Given the description of an element on the screen output the (x, y) to click on. 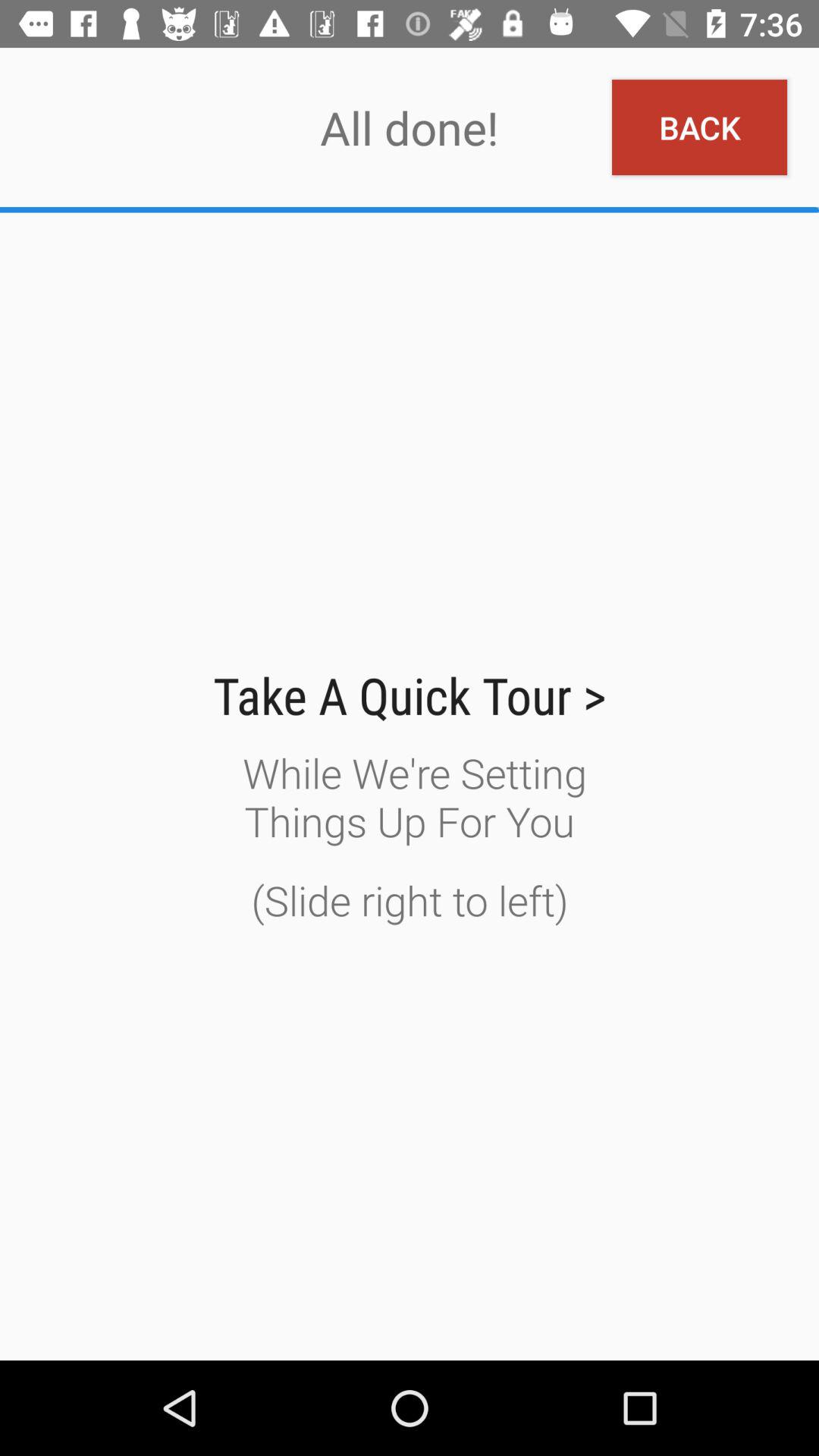
launch the icon to the right of the all done! item (699, 127)
